Given the description of an element on the screen output the (x, y) to click on. 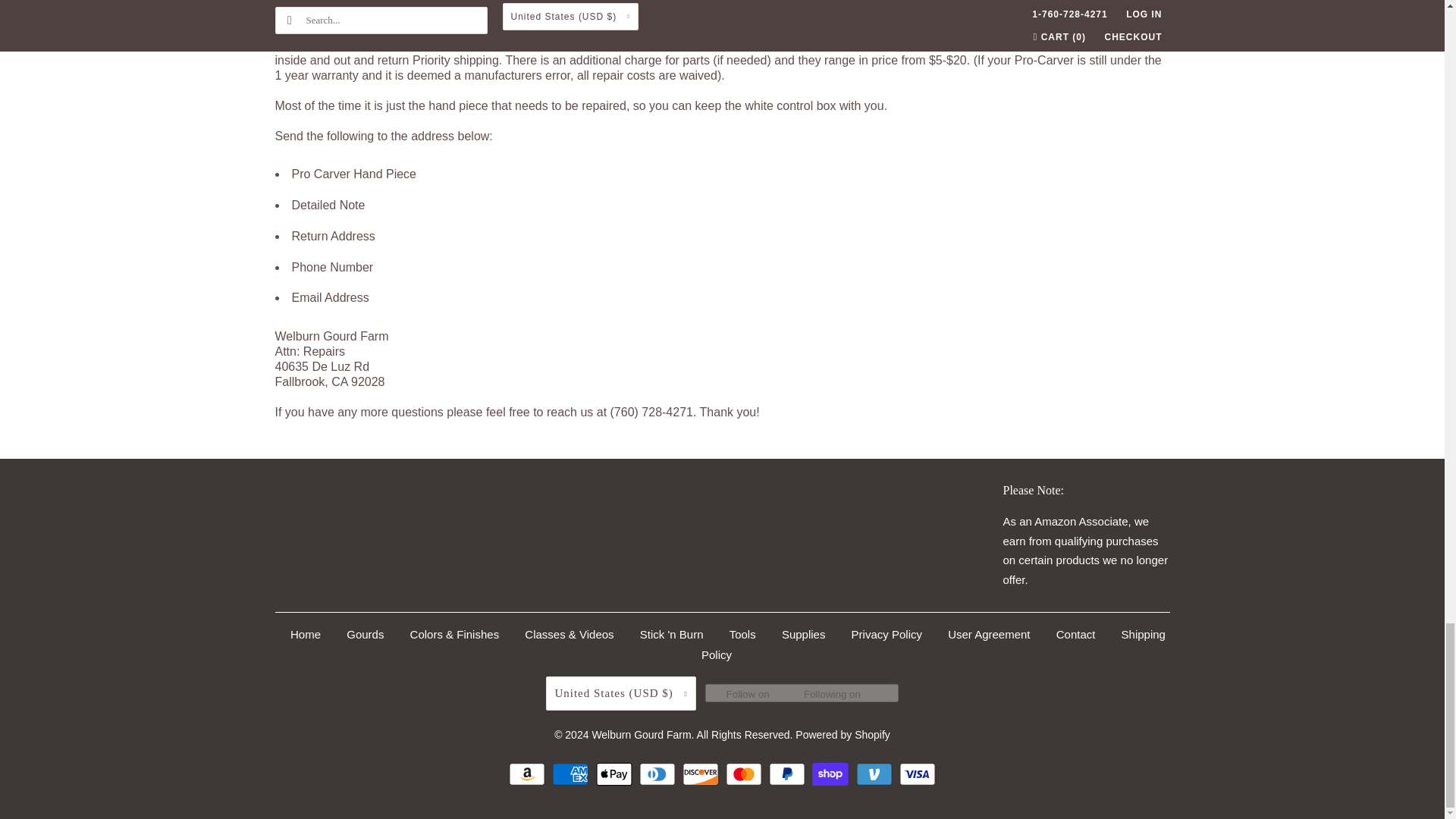
American Express (571, 773)
Diners Club (659, 773)
Visa (917, 773)
Mastercard (745, 773)
PayPal (788, 773)
Apple Pay (615, 773)
Amazon (528, 773)
Shop Pay (831, 773)
Venmo (876, 773)
Discover (702, 773)
